Given the description of an element on the screen output the (x, y) to click on. 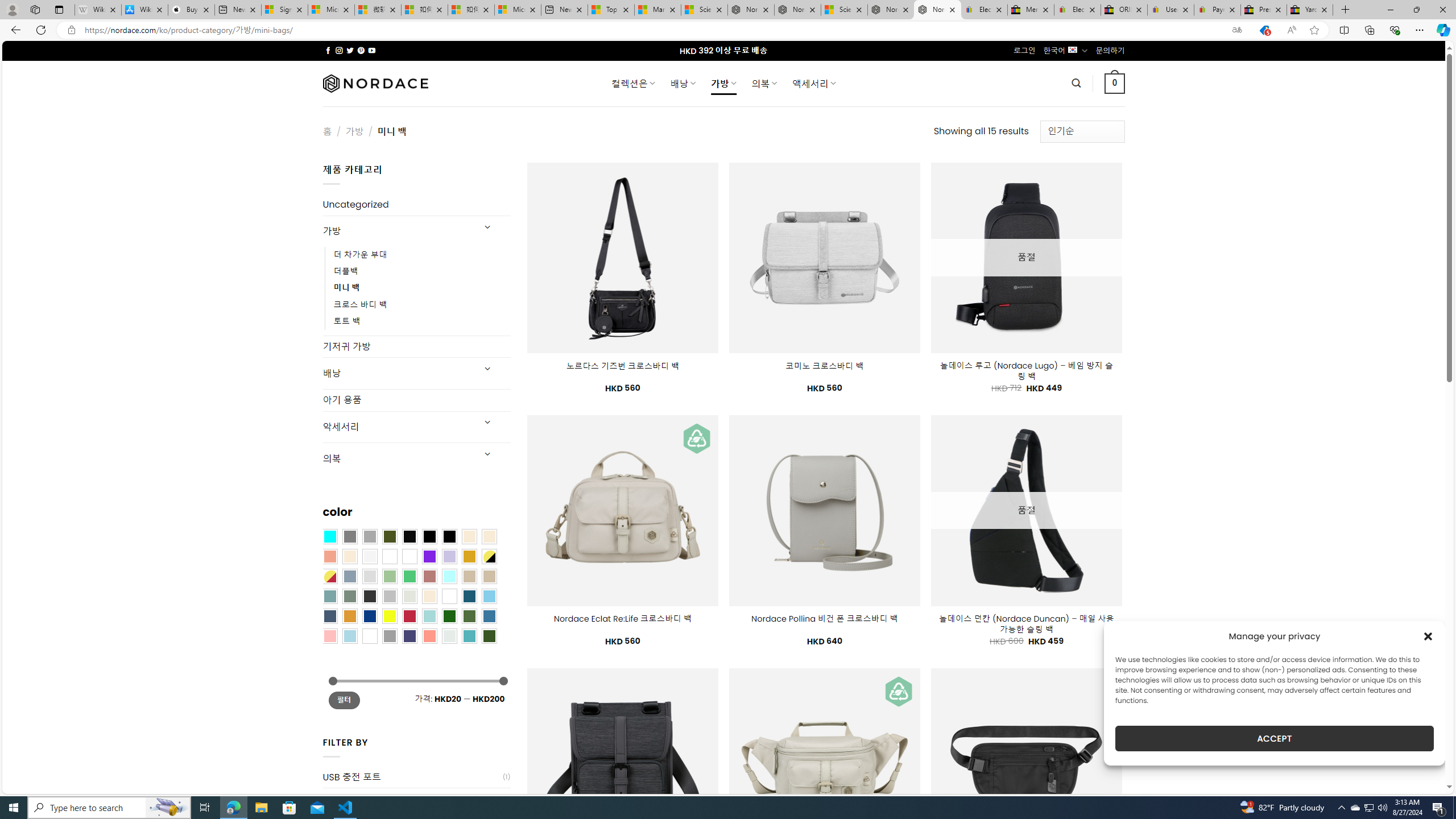
 0  (1115, 83)
Payments Terms of Use | eBay.com (1216, 9)
